Given the description of an element on the screen output the (x, y) to click on. 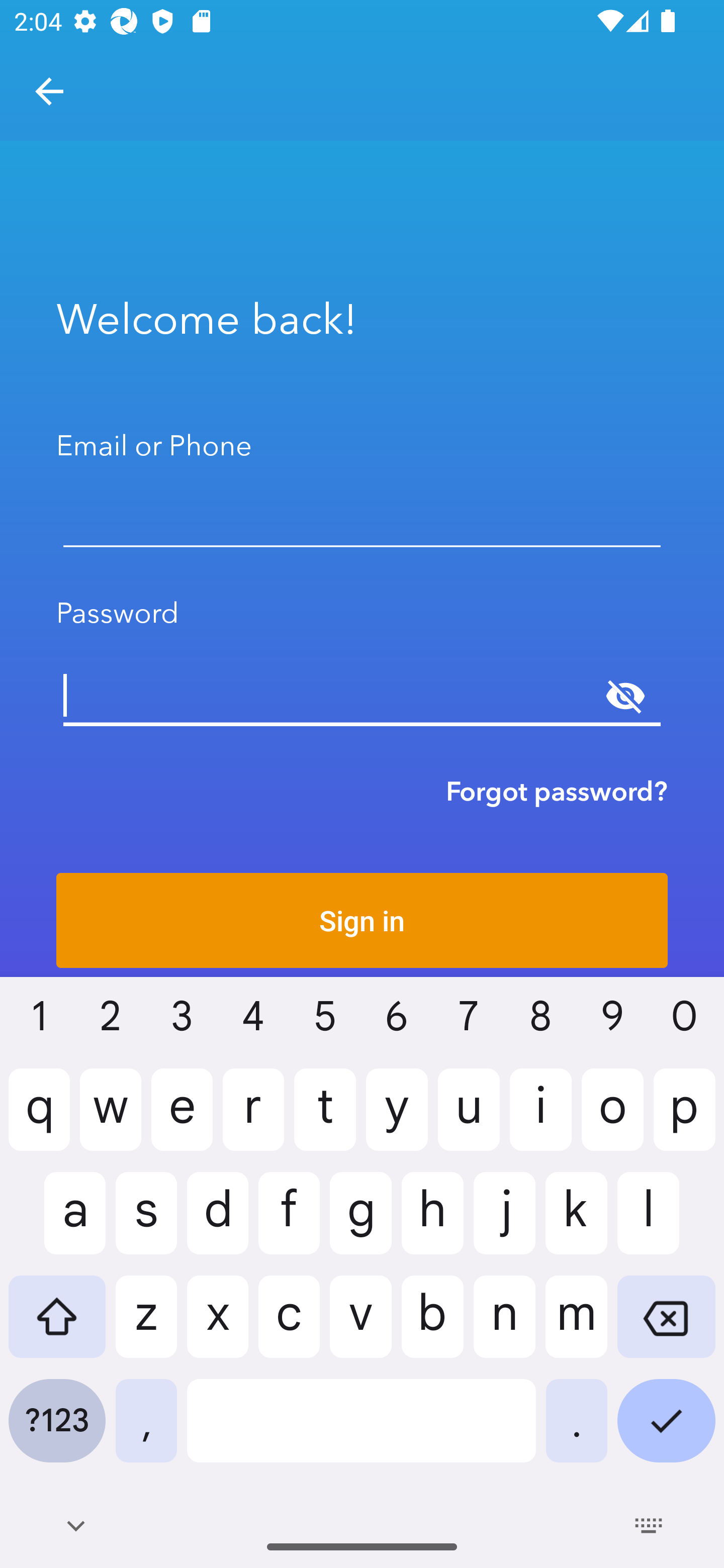
Navigate up (49, 91)
Show password (625, 695)
Forgot password? (556, 790)
Sign in (361, 920)
